Given the description of an element on the screen output the (x, y) to click on. 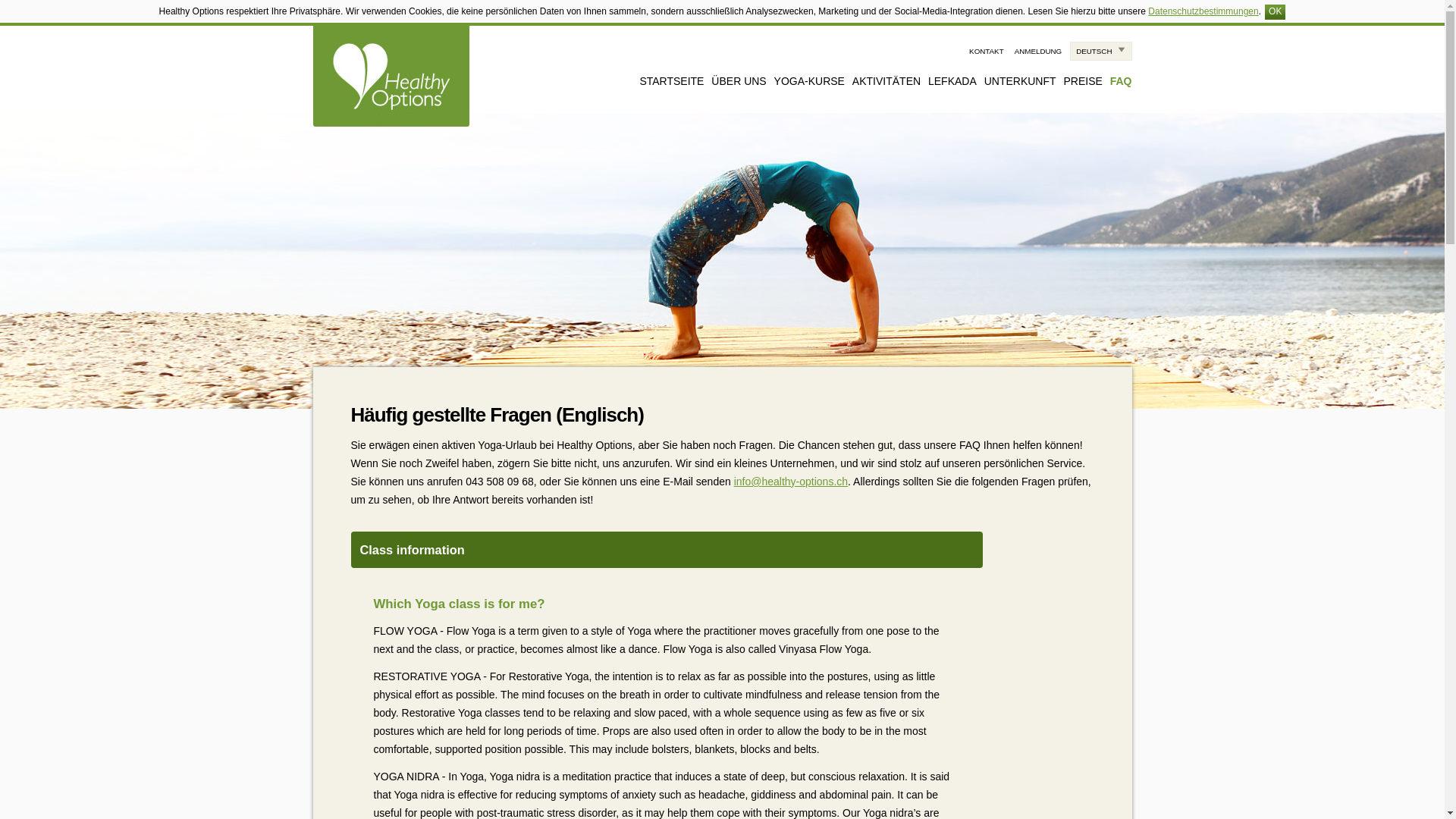
STARTSEITE (671, 80)
KONTAKT (986, 50)
FAQ (1120, 80)
ANMELDUNG (1038, 50)
UNTERKUNFT (1020, 80)
PREISE (1082, 80)
YOGA-KURSE (809, 80)
LEFKADA (952, 80)
OK (1275, 11)
Datenschutzbestimmungen (1202, 10)
